Given the description of an element on the screen output the (x, y) to click on. 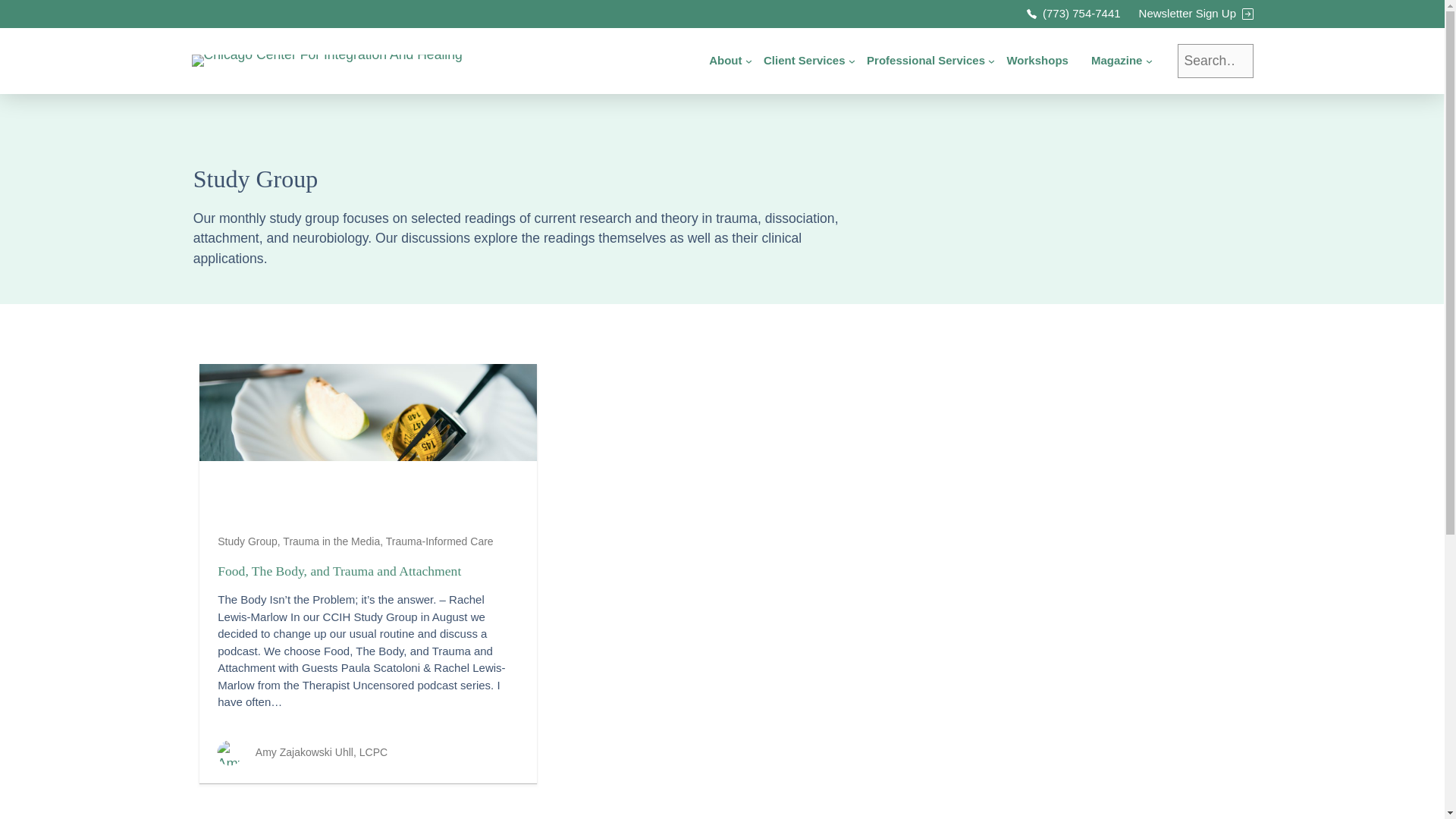
Newsletter Sign Up (1195, 13)
Workshops (1036, 61)
Trauma in the Media (331, 541)
Trauma-Informed Care (439, 541)
Magazine (1117, 61)
Professional Services (925, 61)
About (724, 61)
Study Group (247, 541)
Client Services (804, 61)
